Given the description of an element on the screen output the (x, y) to click on. 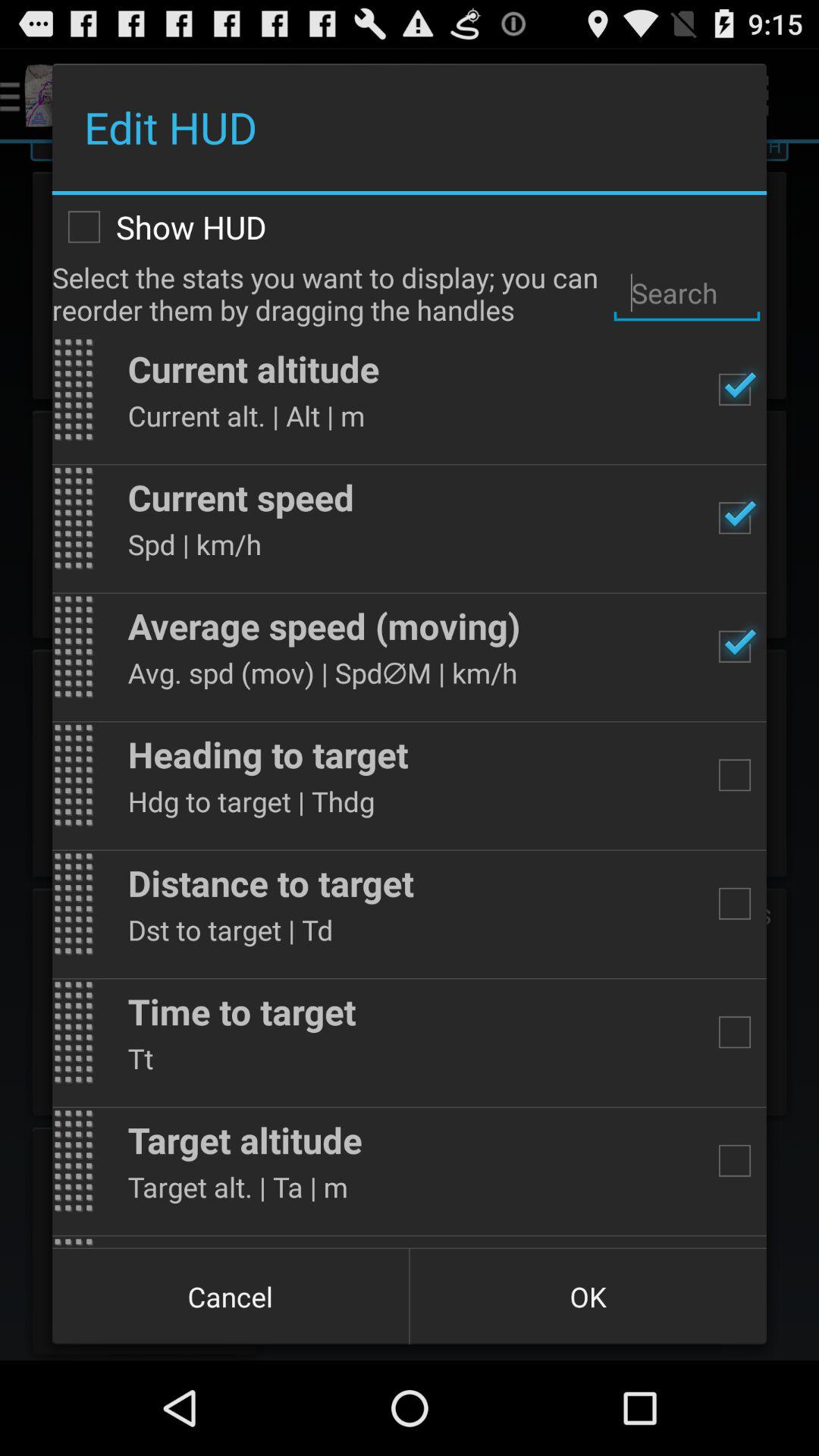
press the item next to cancel button (588, 1296)
